Given the description of an element on the screen output the (x, y) to click on. 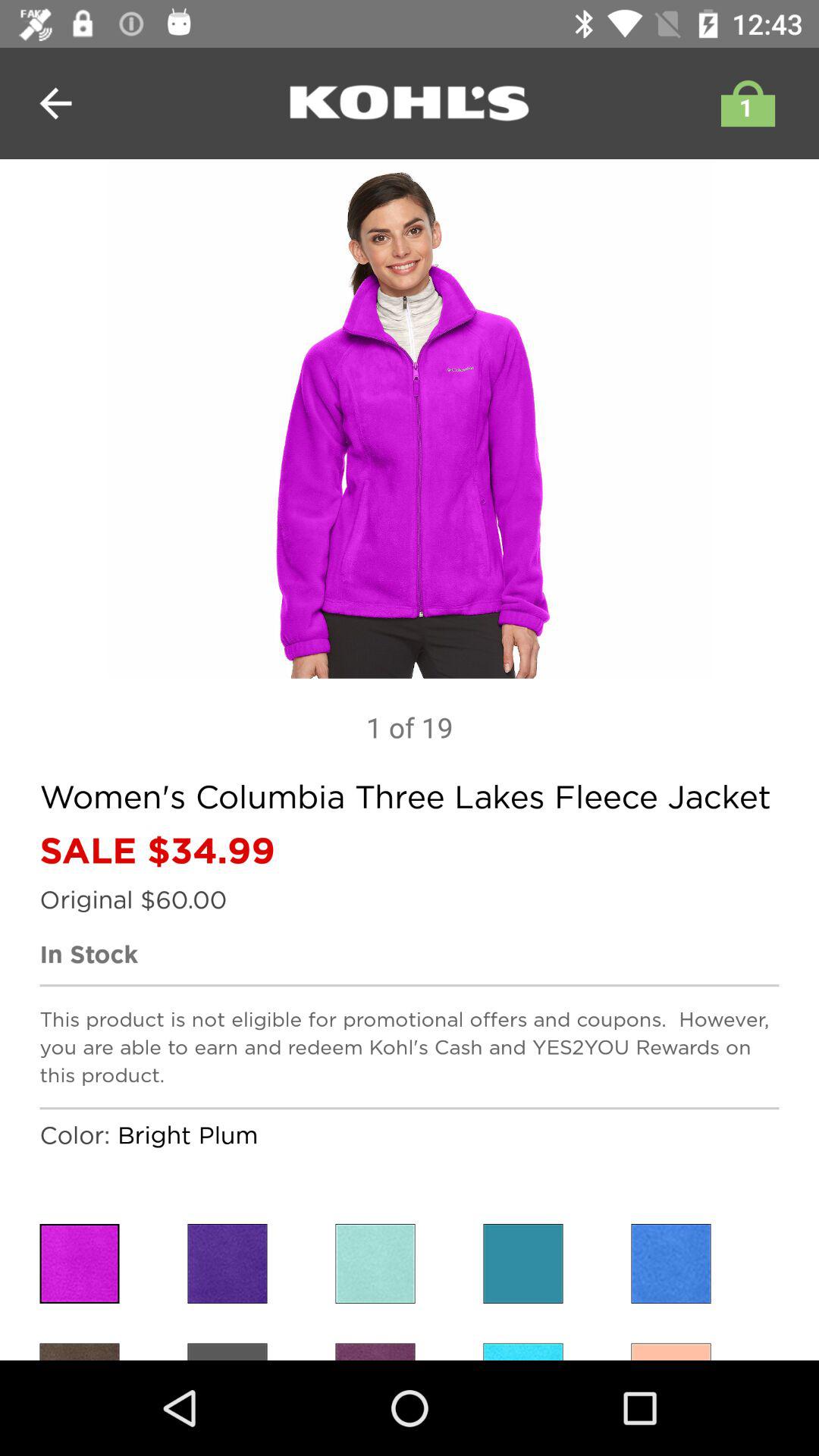
select colour (227, 1263)
